Given the description of an element on the screen output the (x, y) to click on. 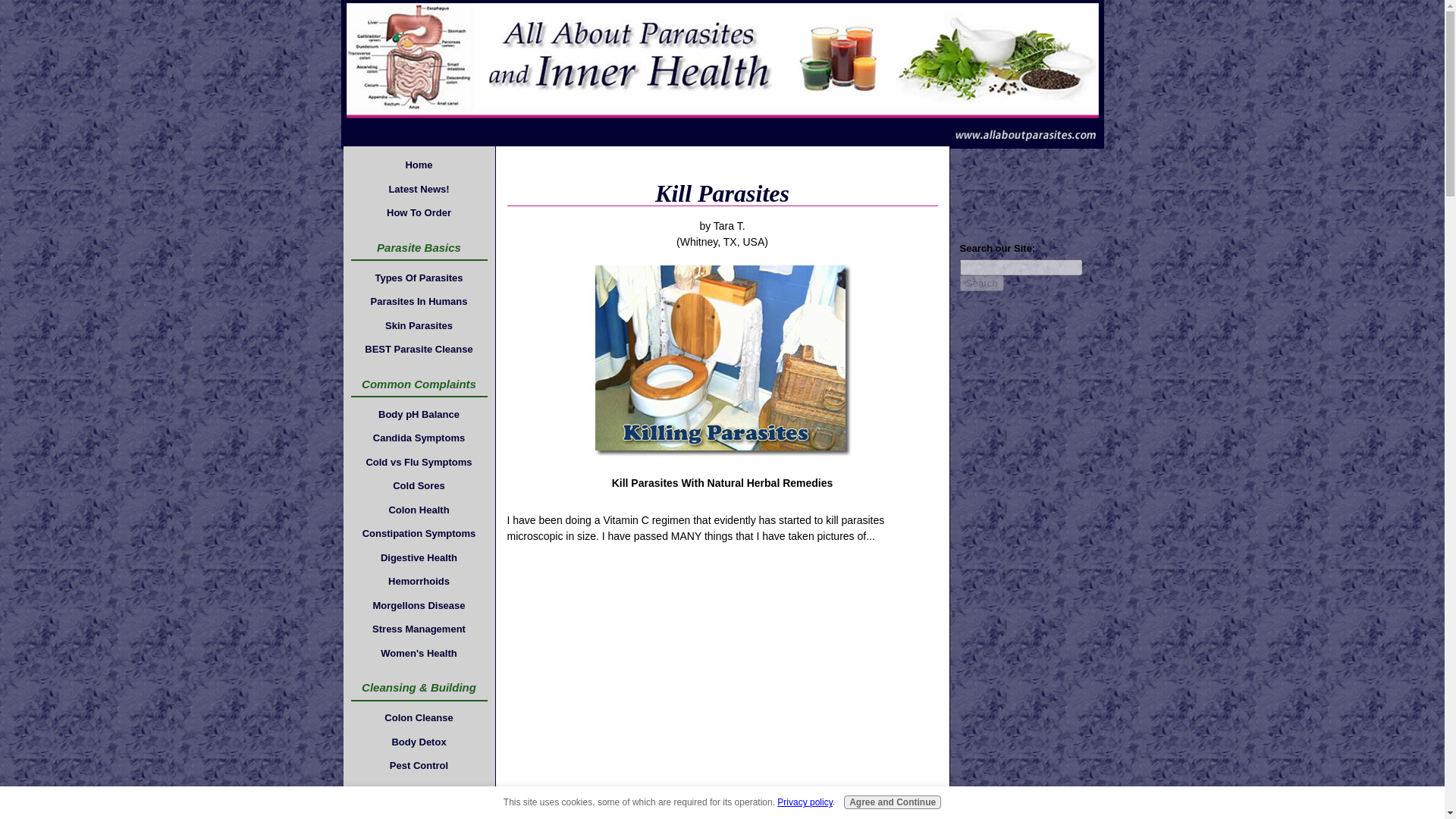
Best Probiotics (418, 789)
Parasites In Humans (418, 301)
Kill Parasites With Natural Herbal Remedies (722, 360)
Colon Health (418, 509)
Body Detox (418, 742)
Women's Health (418, 652)
Cold vs Flu Symptoms (418, 461)
Morgellons Disease (418, 605)
Cold Sores (418, 486)
Digestive Health (418, 557)
Nutritional Supplements (418, 810)
Types Of Parasites (418, 277)
BEST Parasite Cleanse (418, 349)
How To Order (418, 212)
Candida Symptoms (418, 437)
